Given the description of an element on the screen output the (x, y) to click on. 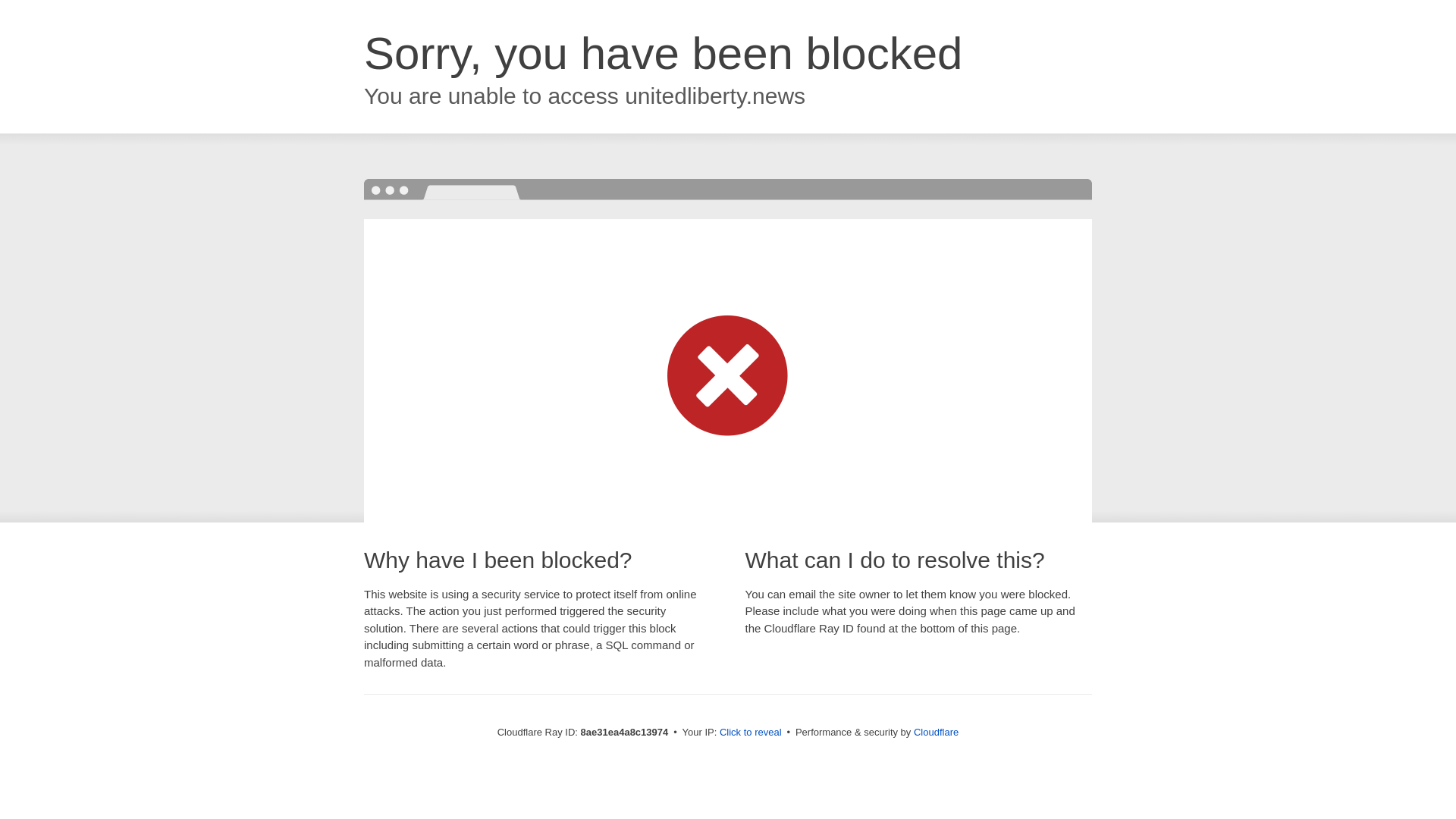
Click to reveal (750, 732)
Cloudflare (936, 731)
